Given the description of an element on the screen output the (x, y) to click on. 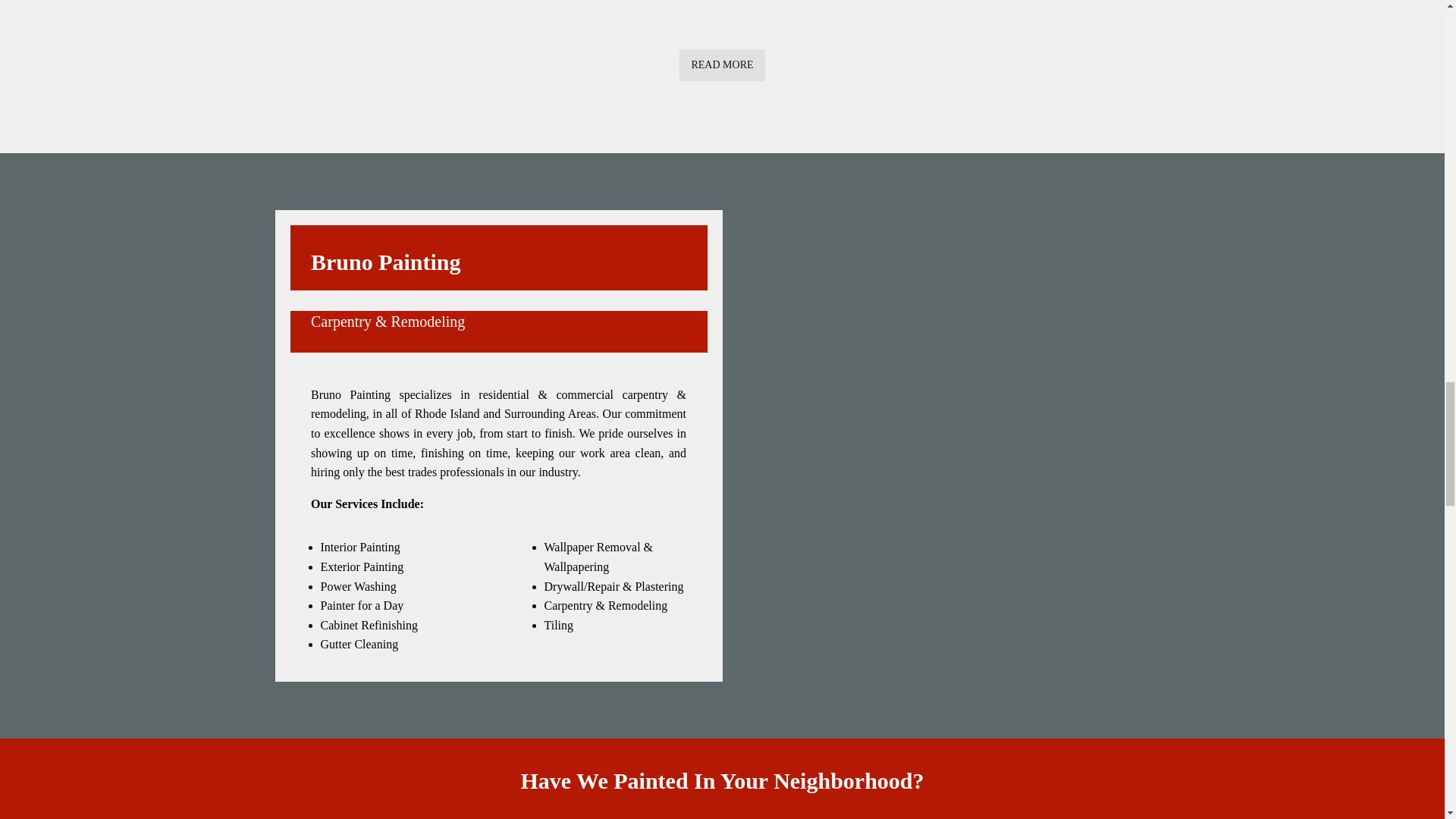
READ MORE (722, 65)
